Given the description of an element on the screen output the (x, y) to click on. 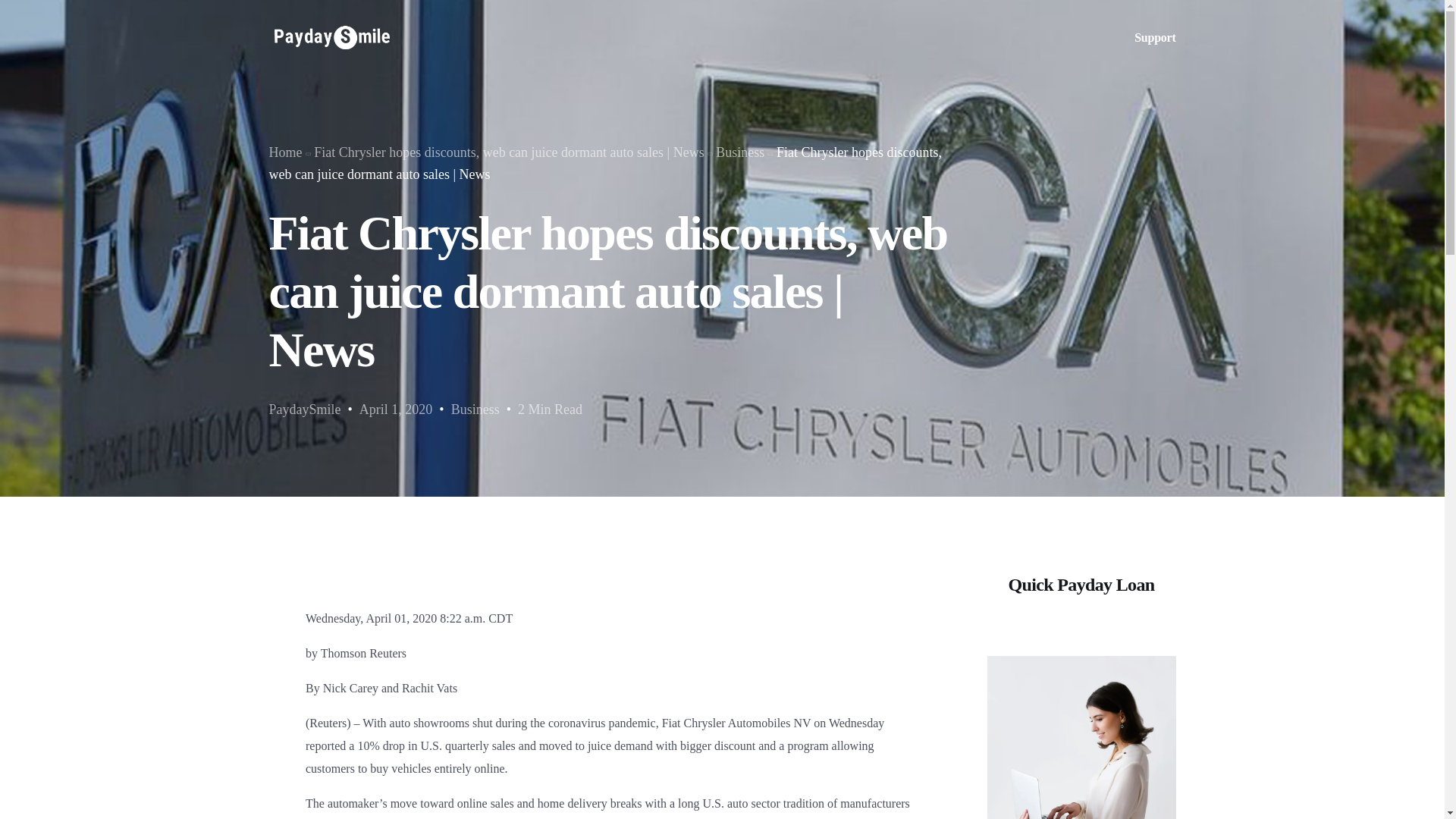
Business (740, 151)
Support (1154, 37)
Business (475, 409)
Home (284, 151)
PaydaySmile (303, 409)
